Given the description of an element on the screen output the (x, y) to click on. 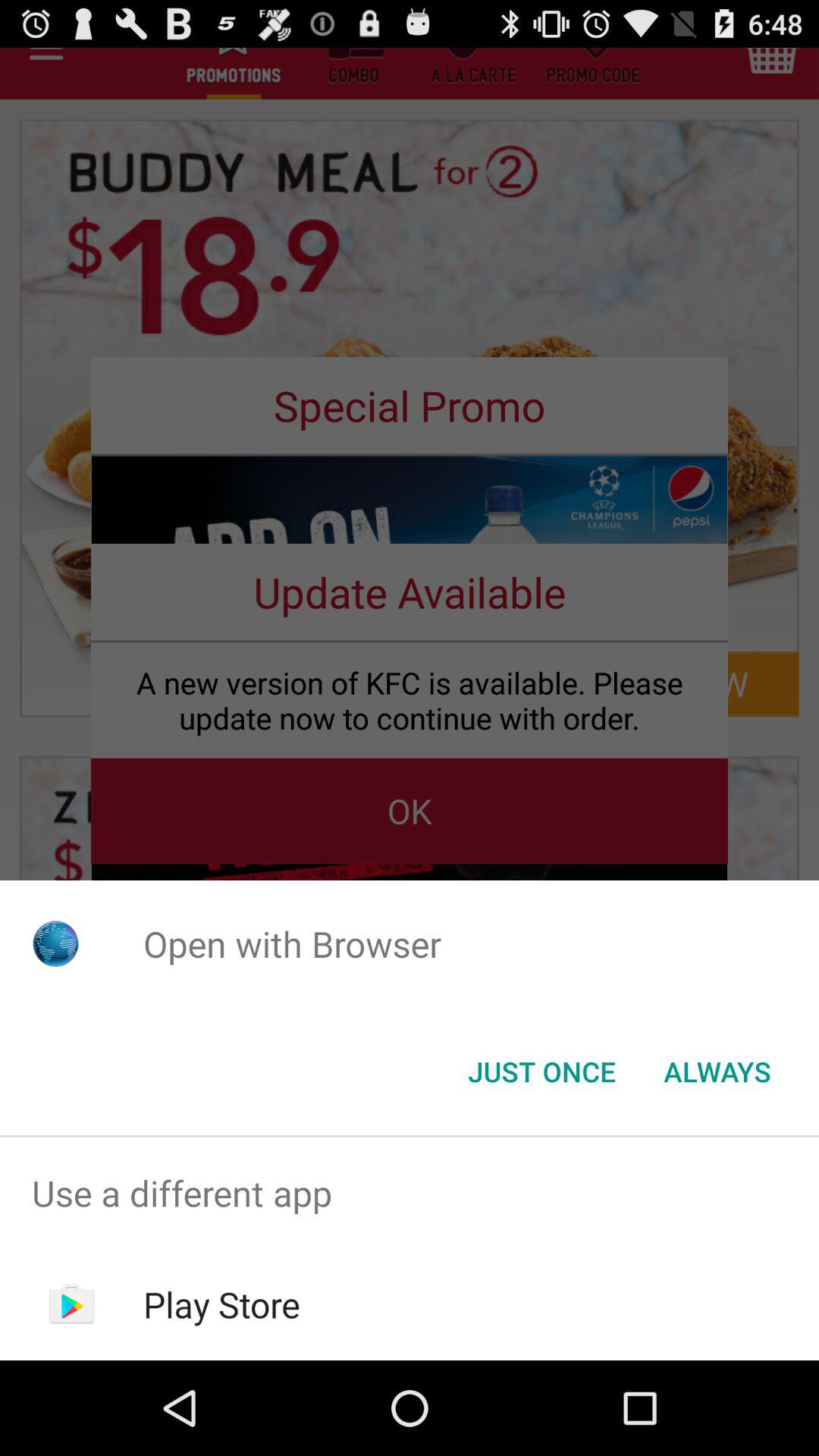
choose the item next to the always icon (541, 1071)
